Given the description of an element on the screen output the (x, y) to click on. 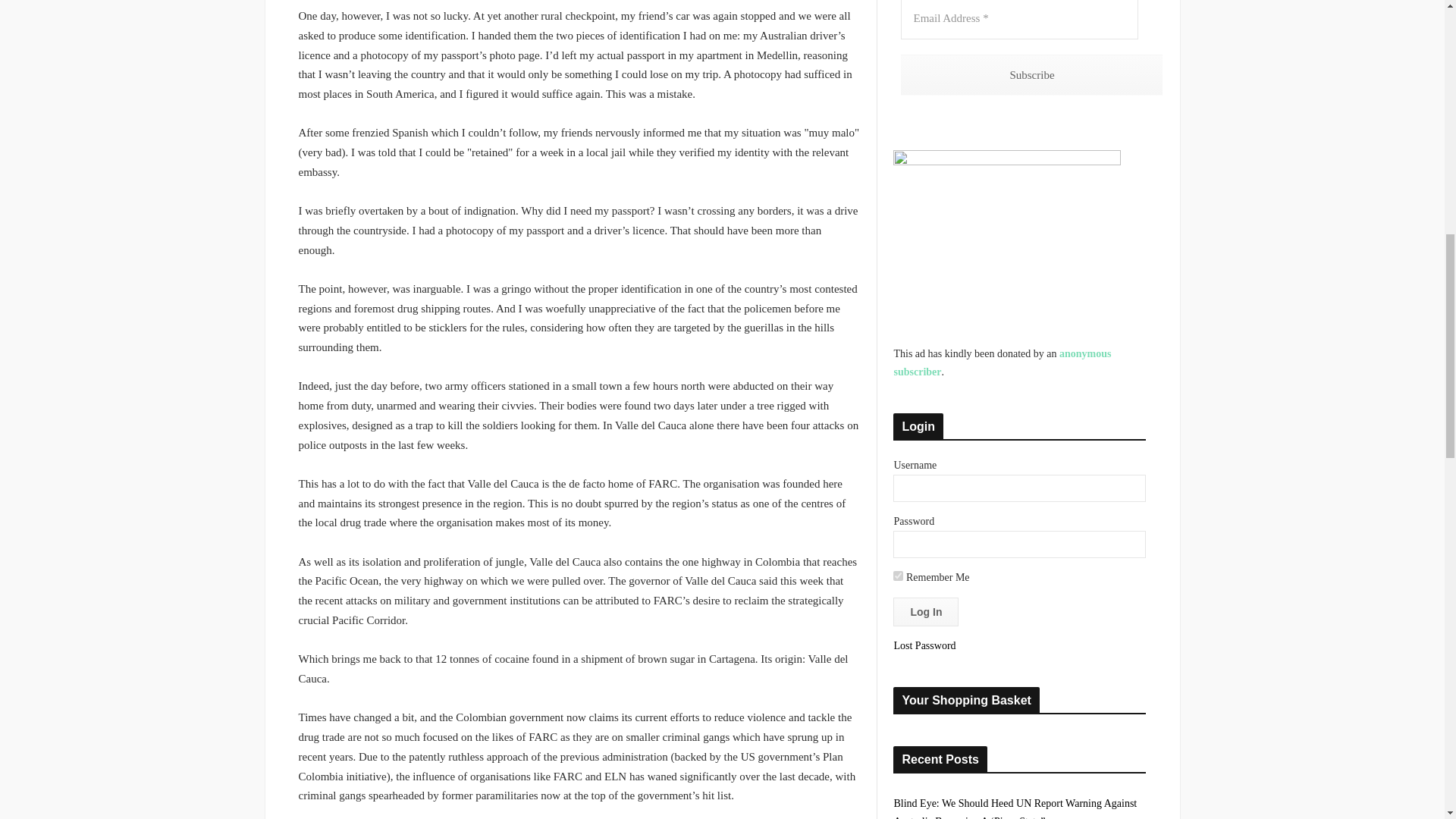
forever (897, 575)
Subscribe (1031, 75)
Log In (925, 611)
